Given the description of an element on the screen output the (x, y) to click on. 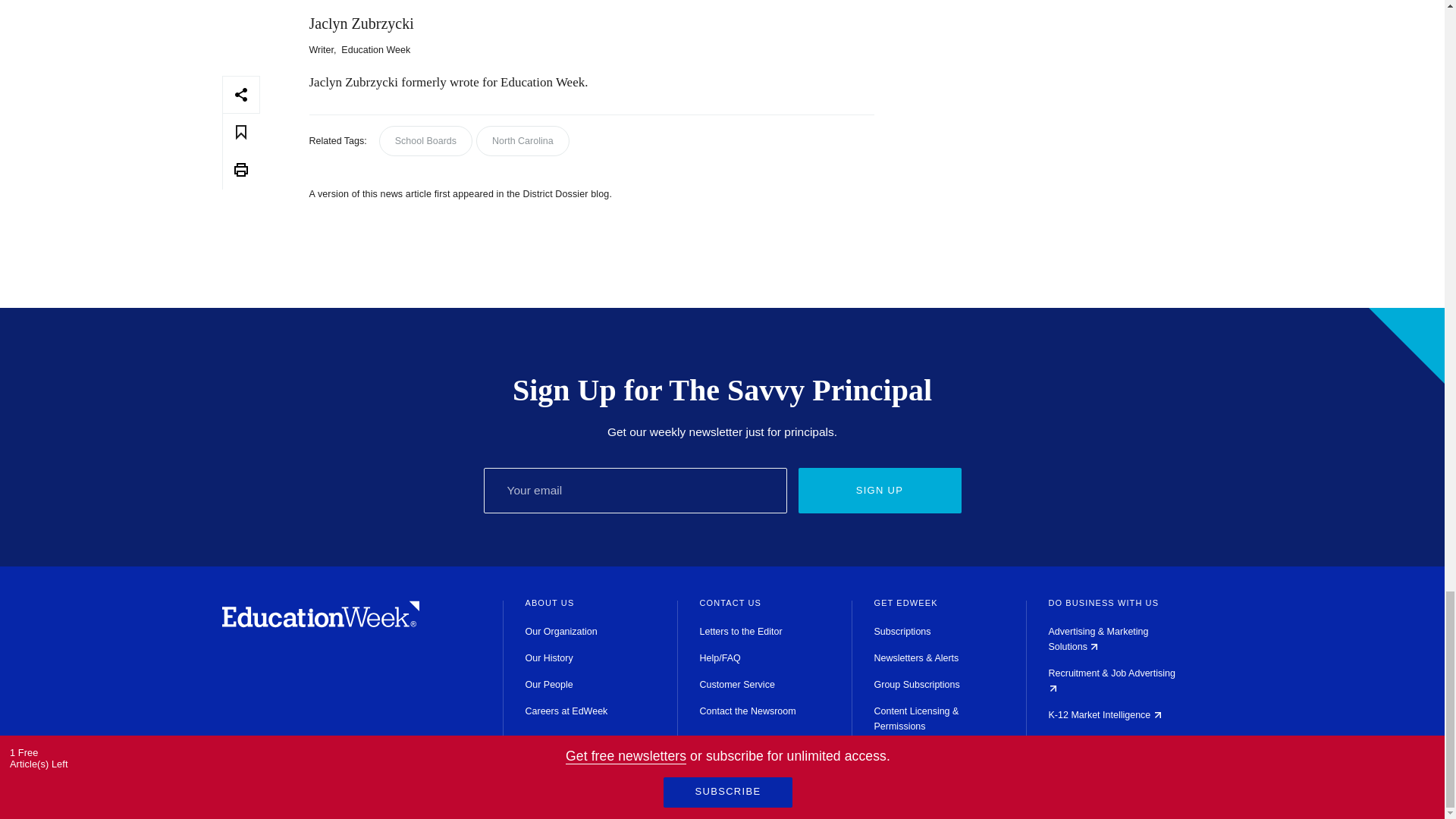
Homepage (320, 623)
